Given the description of an element on the screen output the (x, y) to click on. 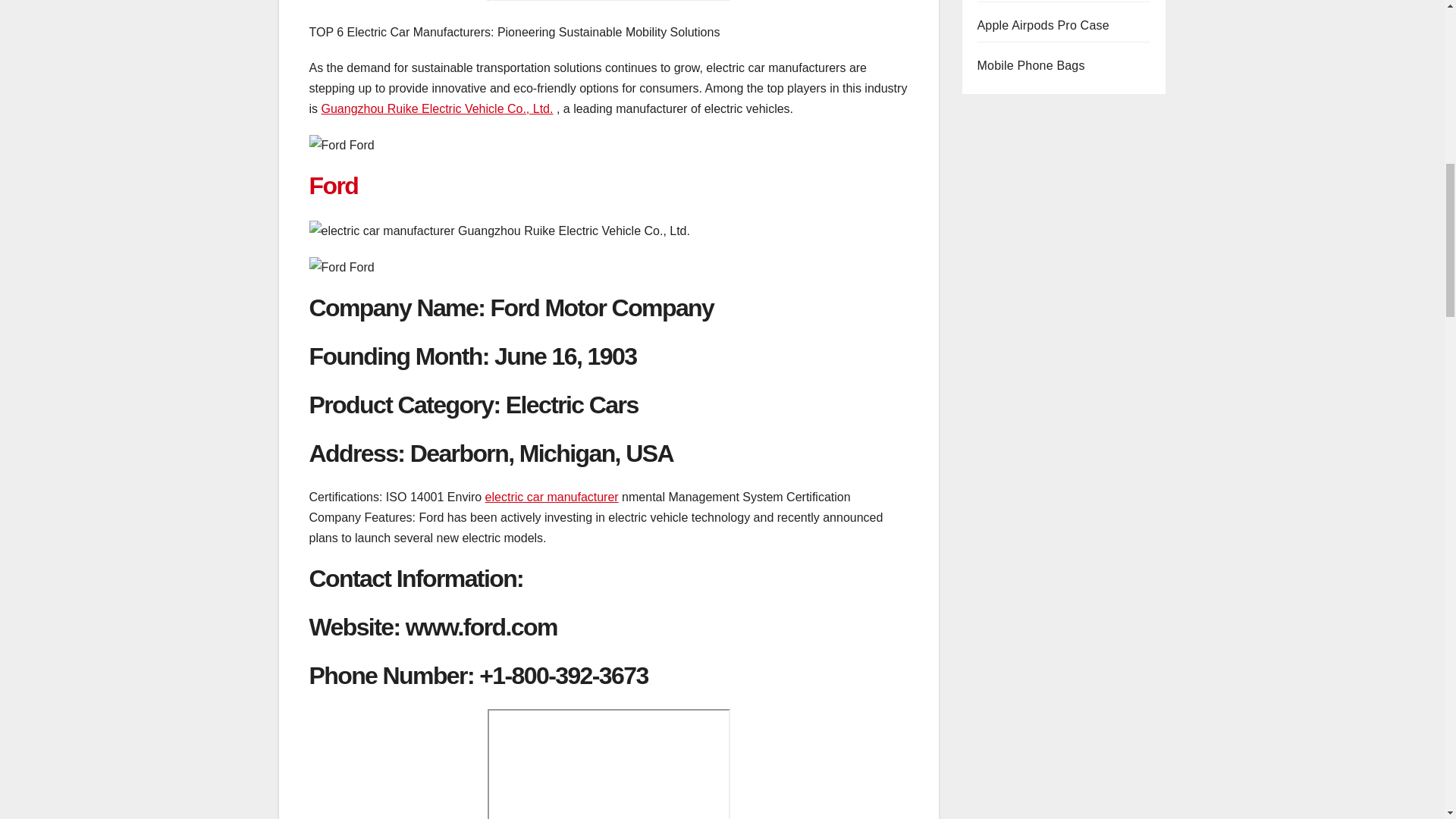
electric car manufacturer (551, 496)
Guangzhou Ruike Electric Vehicle Co., Ltd. (437, 108)
Ford (333, 185)
